Given the description of an element on the screen output the (x, y) to click on. 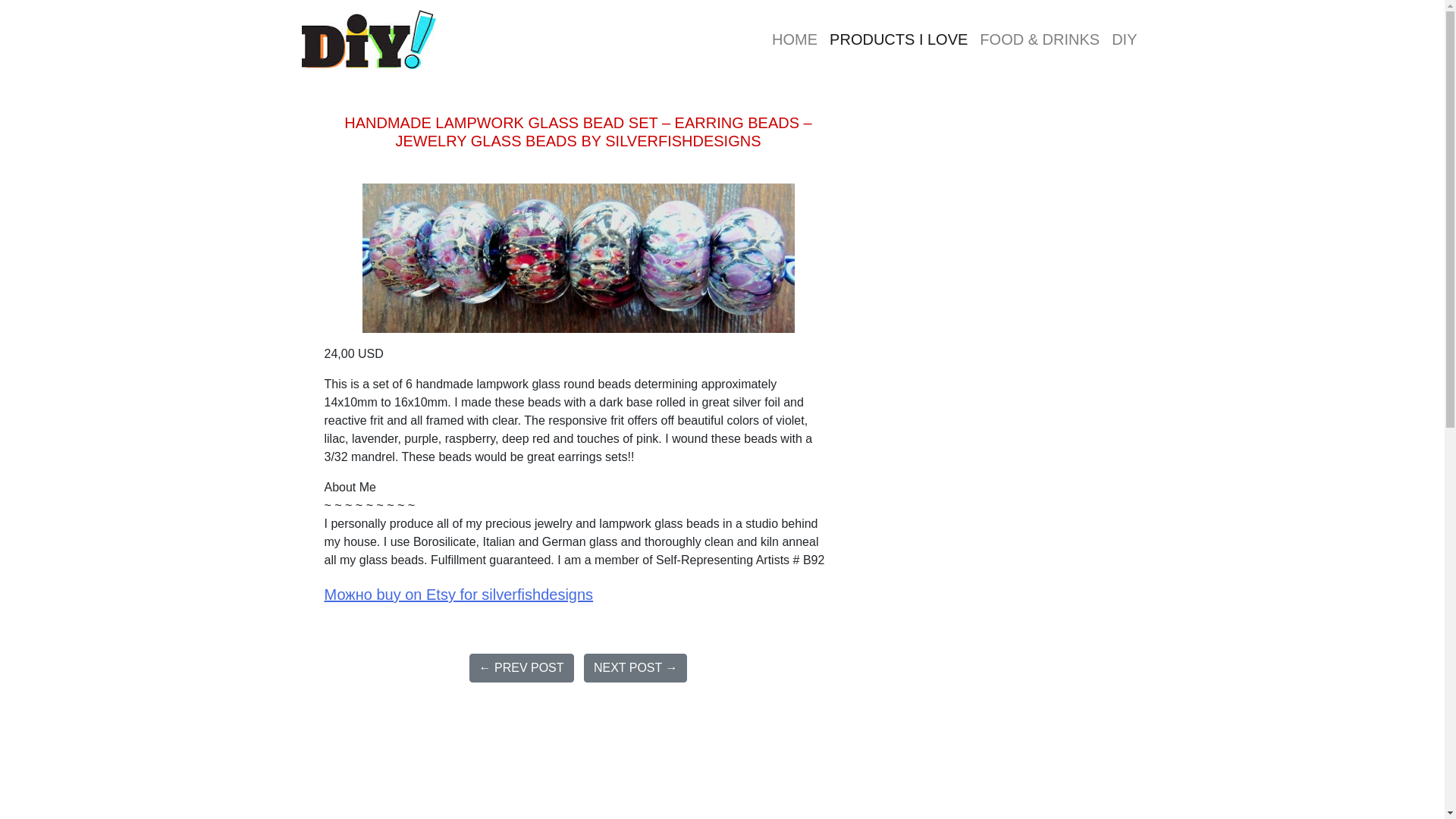
glyphicon glyphicon-home (794, 39)
Advertisement (577, 765)
glyphicon glyphicon-paperclip (1123, 39)
HOME (794, 39)
DIY (1123, 39)
PRODUCTS I LOVE (899, 39)
glyphicon glyphicon-cutlery (1039, 39)
glyphicon glyphicon-thumbs-up (899, 39)
